Given the description of an element on the screen output the (x, y) to click on. 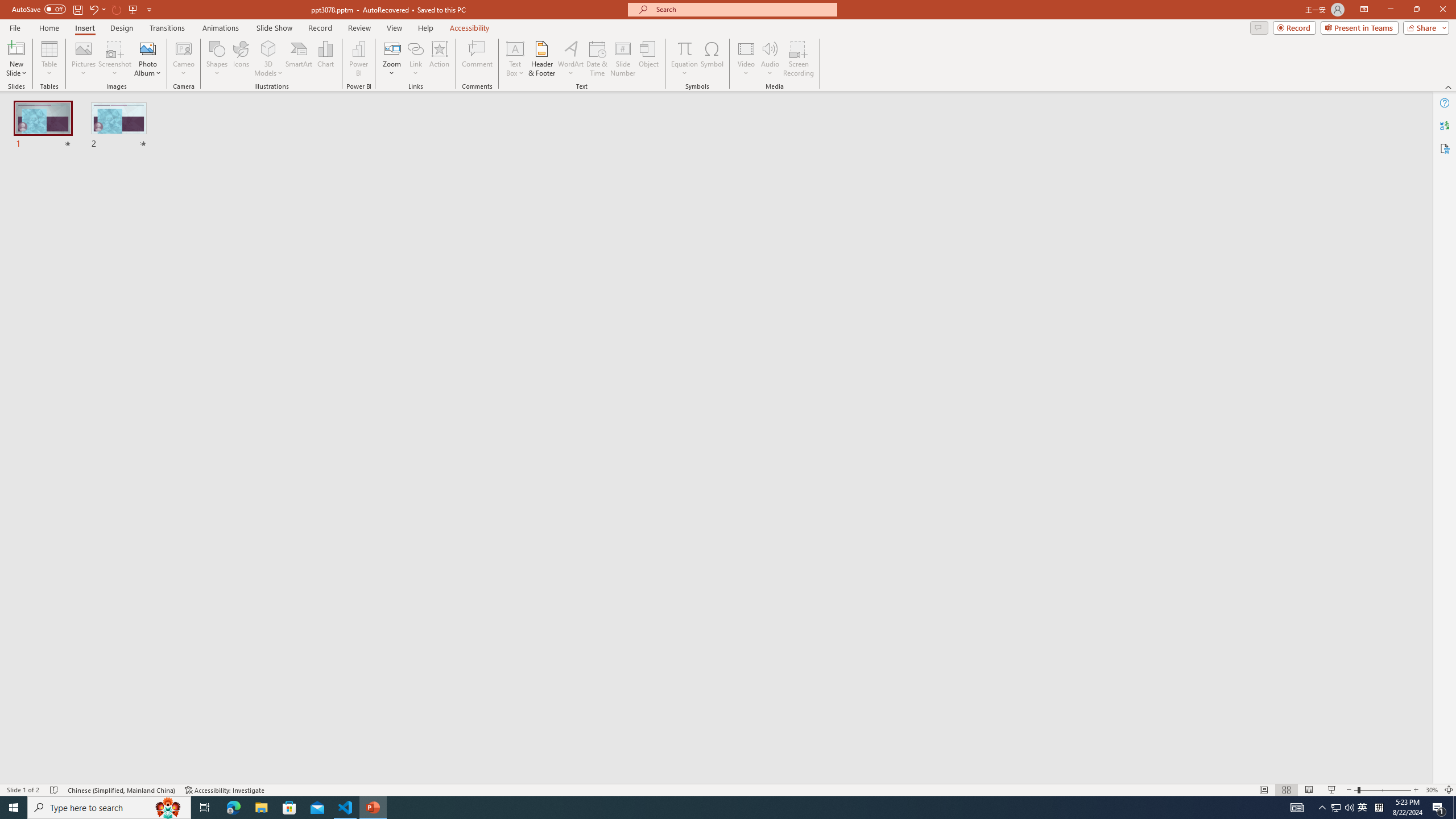
Video (745, 58)
Table (49, 58)
Object... (649, 58)
